Given the description of an element on the screen output the (x, y) to click on. 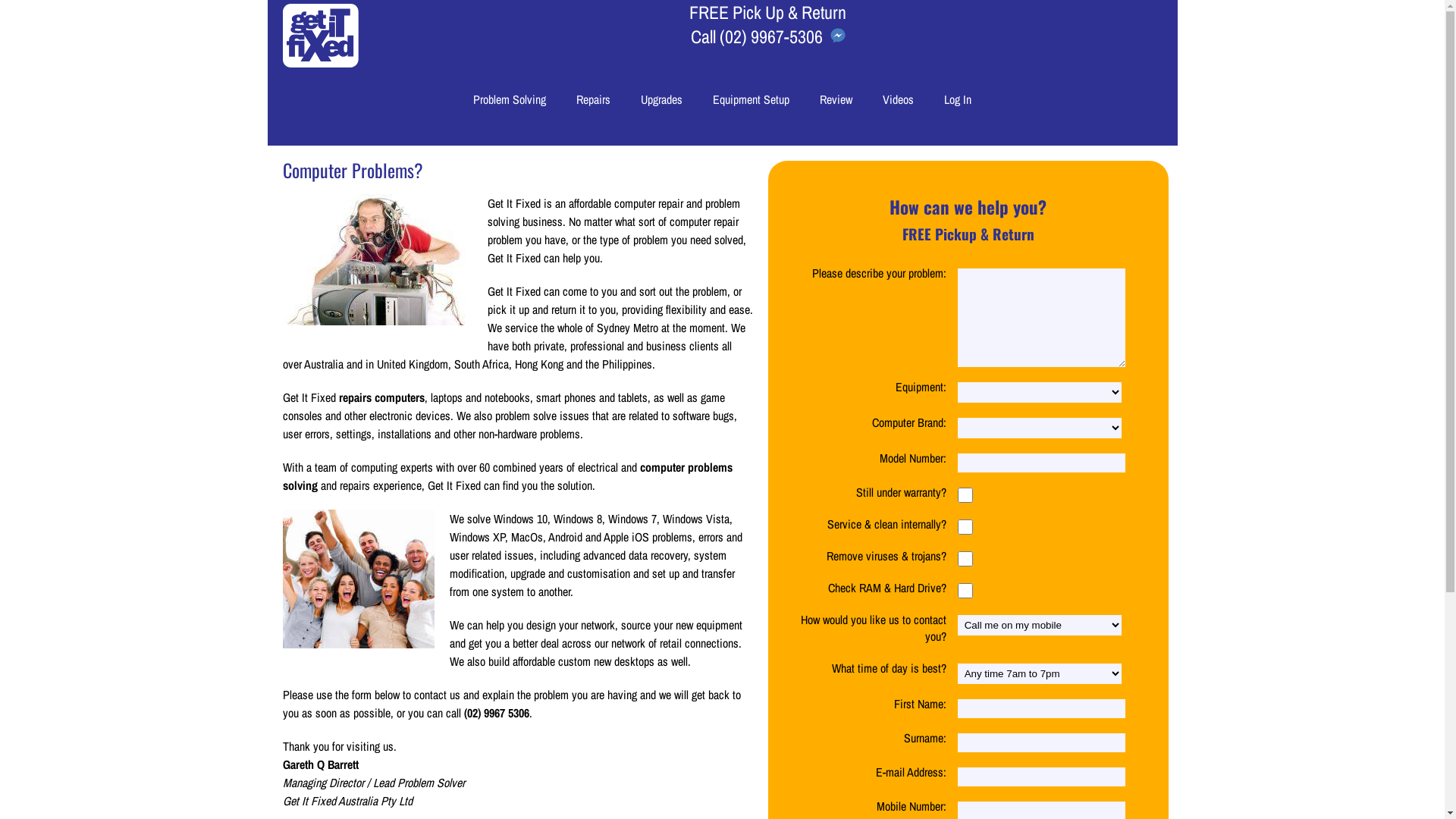
Videos Element type: text (897, 99)
FREE Pick Up & Return
Call Element type: text (767, 24)
(02) 9967-5306 Element type: text (770, 36)
Upgrades Element type: text (661, 99)
Log In Element type: text (957, 99)
computer problems solving Element type: text (506, 475)
Review Element type: text (835, 99)
Equipment Setup Element type: text (750, 99)
Repairs Element type: text (593, 99)
repairs computers Element type: text (380, 397)
Problem Solving Element type: text (509, 99)
How can we help you?
FREE Pickup & Return Element type: text (967, 219)
